Given the description of an element on the screen output the (x, y) to click on. 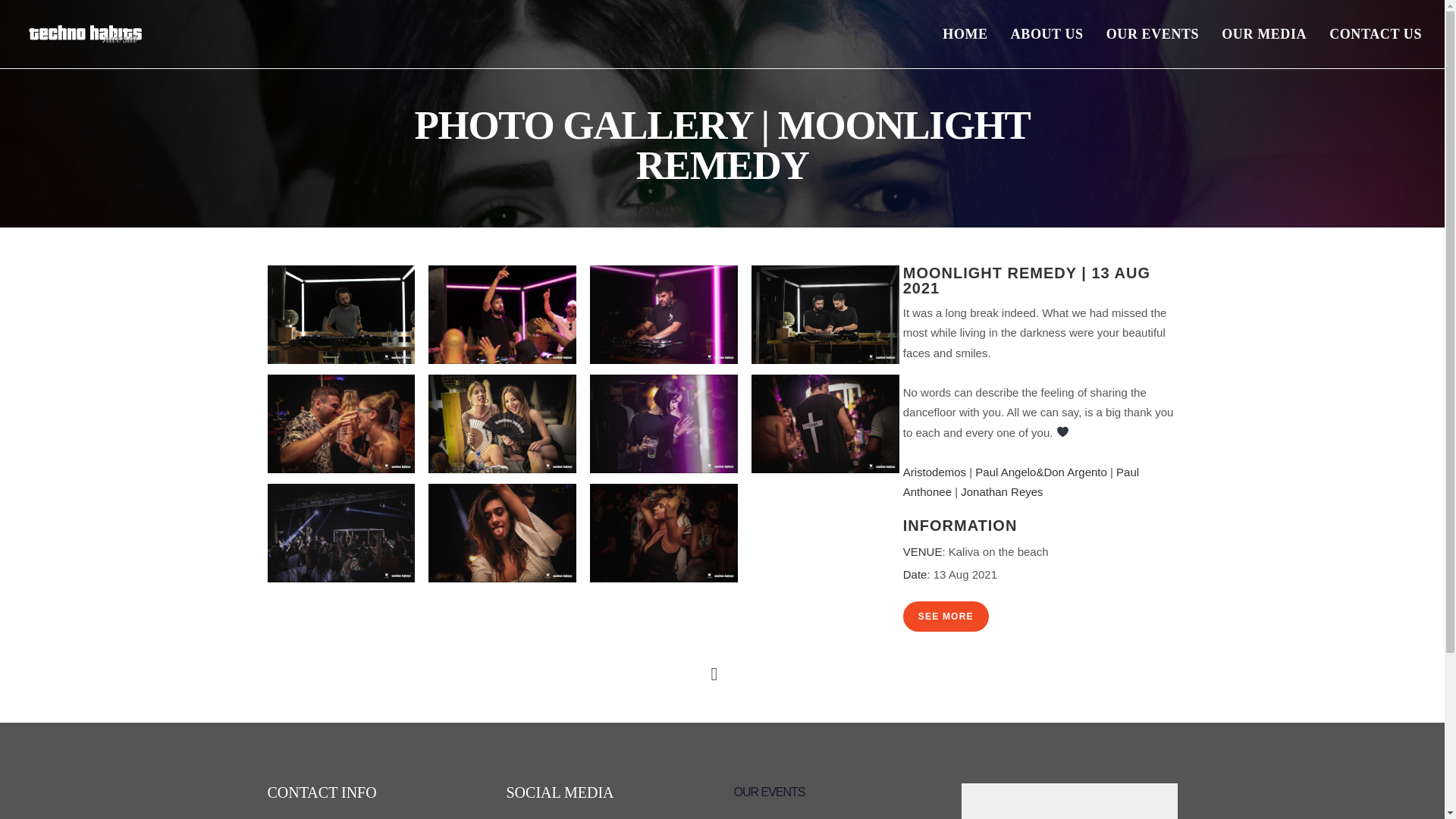
Aristodemos (934, 472)
ABOUT US (1046, 33)
Paul Anthonee (1020, 481)
mr11 (663, 531)
OUR MEDIA (1263, 33)
CONTACT US (1374, 33)
mr4 (825, 313)
mr8 (825, 422)
mr1 (340, 313)
HOME (964, 33)
mr3 (663, 313)
SEE MORE (945, 615)
mr10 (502, 531)
mr9 (340, 531)
mr7 (663, 422)
